Given the description of an element on the screen output the (x, y) to click on. 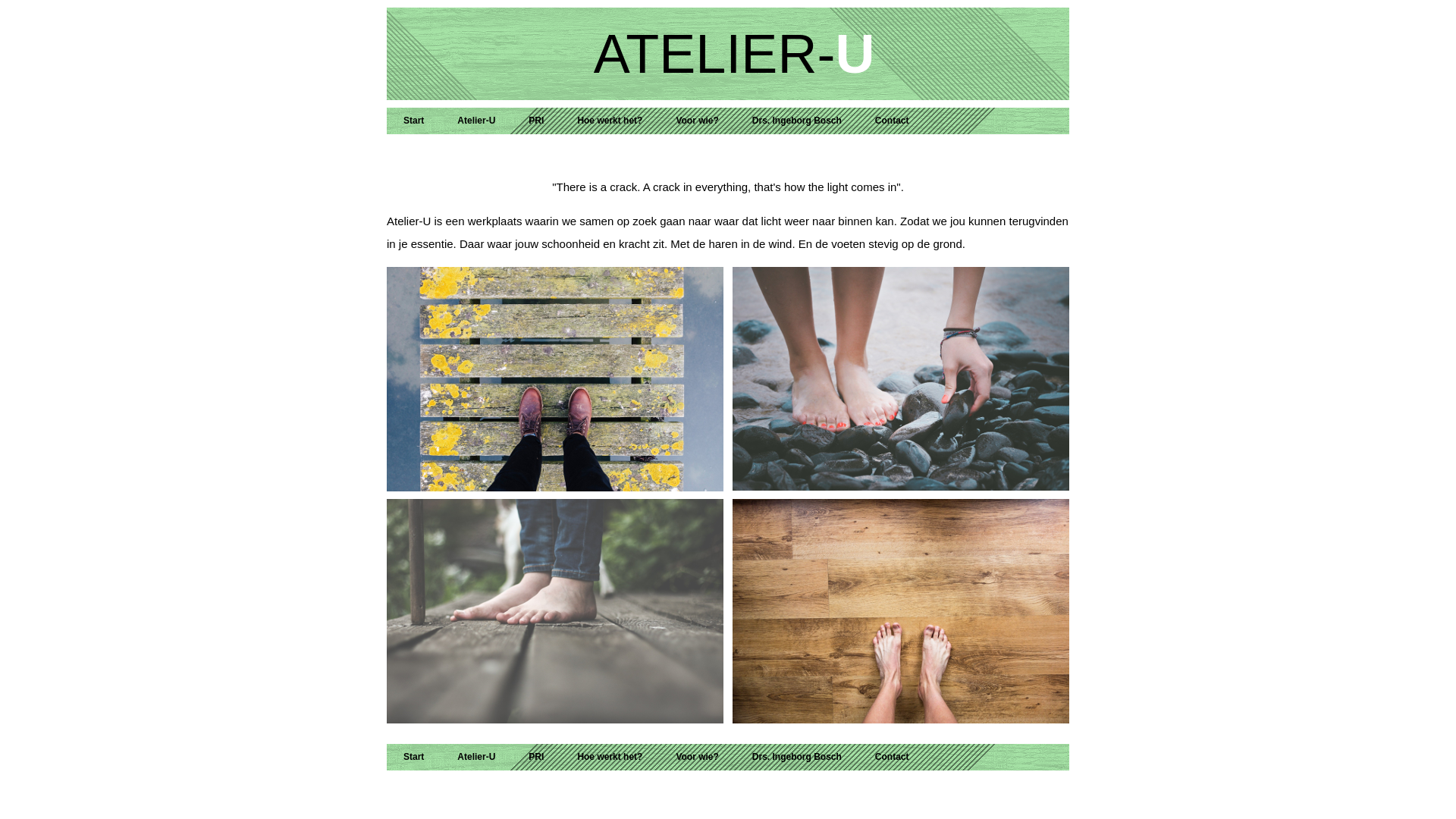
Voor wie? Element type: text (696, 756)
Start Element type: text (413, 756)
PRI Element type: text (535, 120)
Drs. Ingeborg Bosch Element type: text (796, 756)
Contact Element type: text (891, 756)
Voor wie? Element type: text (696, 120)
Atelier-U Element type: text (475, 120)
Hoe werkt het? Element type: text (609, 120)
PRI Element type: text (535, 756)
Drs. Ingeborg Bosch Element type: text (796, 120)
Contact Element type: text (891, 120)
Start Element type: text (413, 120)
Hoe werkt het? Element type: text (609, 756)
Atelier-U Element type: text (475, 756)
